Given the description of an element on the screen output the (x, y) to click on. 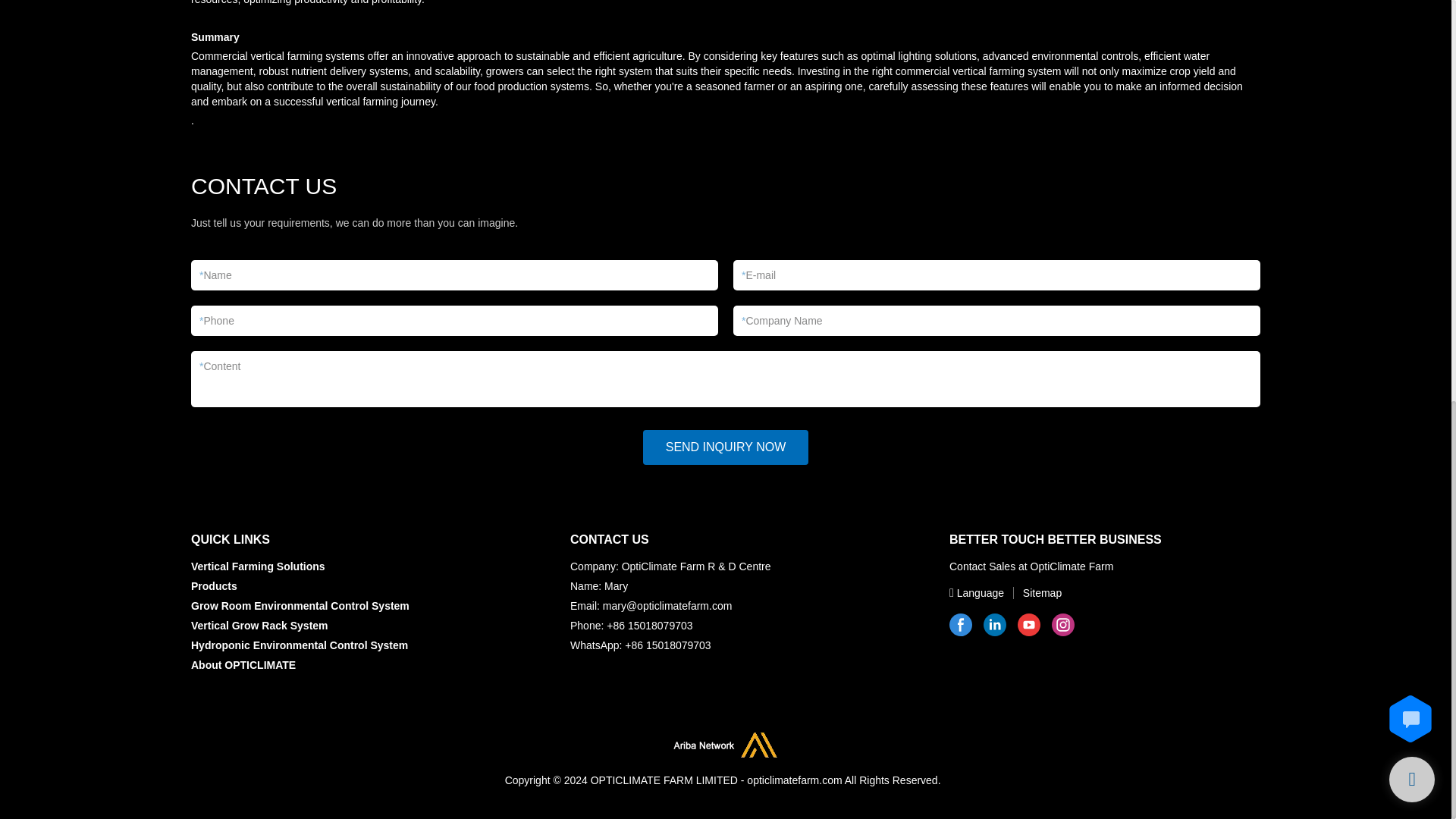
Language (978, 592)
SEND INQUIRY NOW (726, 447)
Hydroponic Environmental Control System (298, 645)
Sitemap (1034, 592)
Grow Room Environmental Control System (299, 605)
Vertical Farming Solutions (257, 566)
Vertical Grow Rack System (259, 625)
Products (213, 585)
About OPTICLIMATE (242, 664)
